Given the description of an element on the screen output the (x, y) to click on. 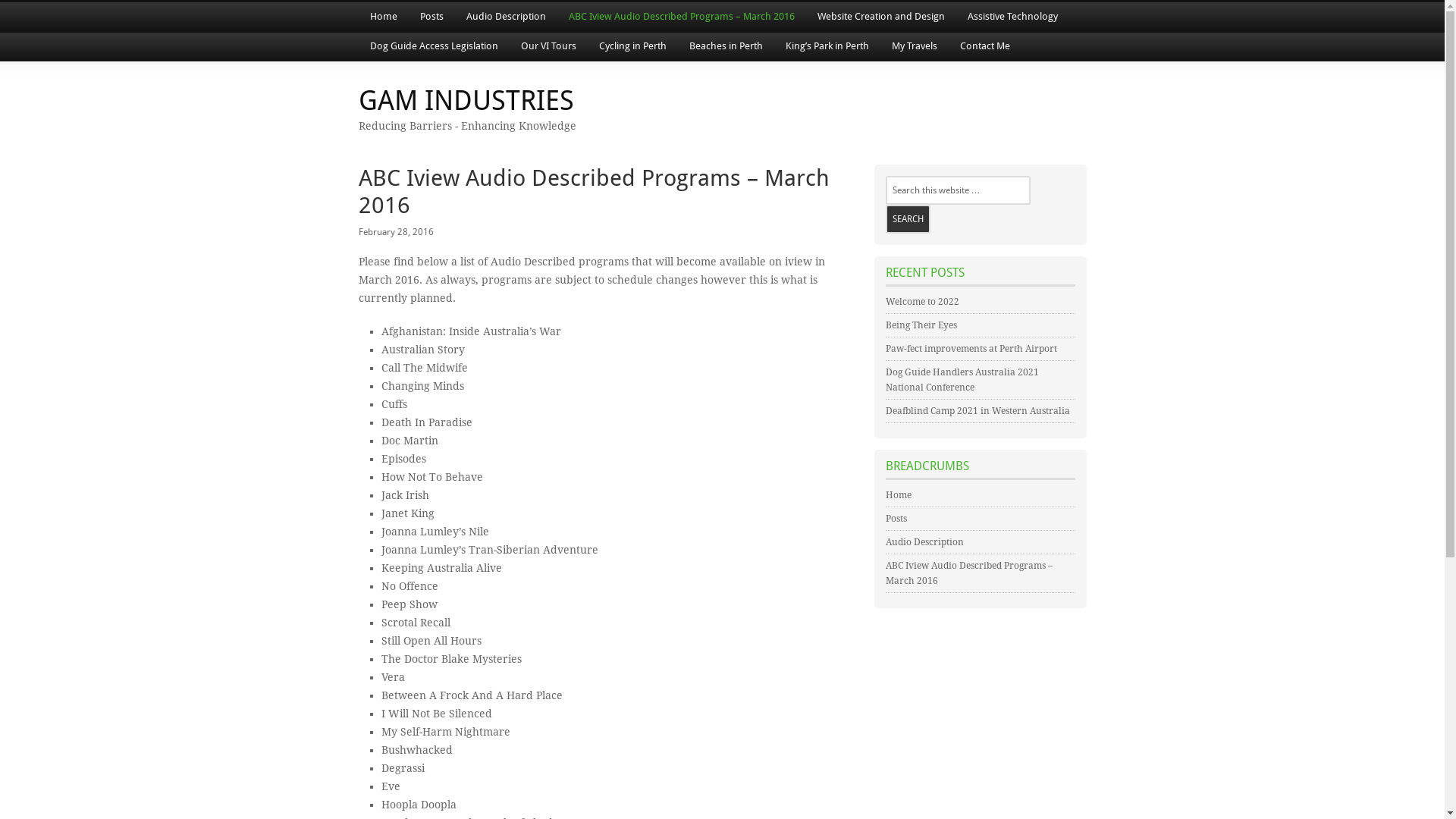
Dog Guide Handlers Australia 2021 National Conference Element type: text (961, 379)
Home Element type: text (898, 494)
Home Element type: text (382, 16)
Posts Element type: text (895, 518)
Assistive Technology Element type: text (1011, 16)
Contact Me Element type: text (983, 46)
GAM INDUSTRIES Element type: text (465, 100)
Welcome to 2022 Element type: text (922, 301)
Beaches in Perth Element type: text (725, 46)
Paw-fect improvements at Perth Airport Element type: text (971, 348)
Search Element type: text (907, 218)
Audio Description Element type: text (924, 541)
Posts Element type: text (430, 16)
Website Creation and Design Element type: text (880, 16)
Deafblind Camp 2021 in Western Australia Element type: text (977, 410)
My Travels Element type: text (913, 46)
Dog Guide Access Legislation Element type: text (432, 46)
Cycling in Perth Element type: text (631, 46)
Being Their Eyes Element type: text (921, 325)
Our VI Tours Element type: text (548, 46)
Audio Description Element type: text (506, 16)
